Given the description of an element on the screen output the (x, y) to click on. 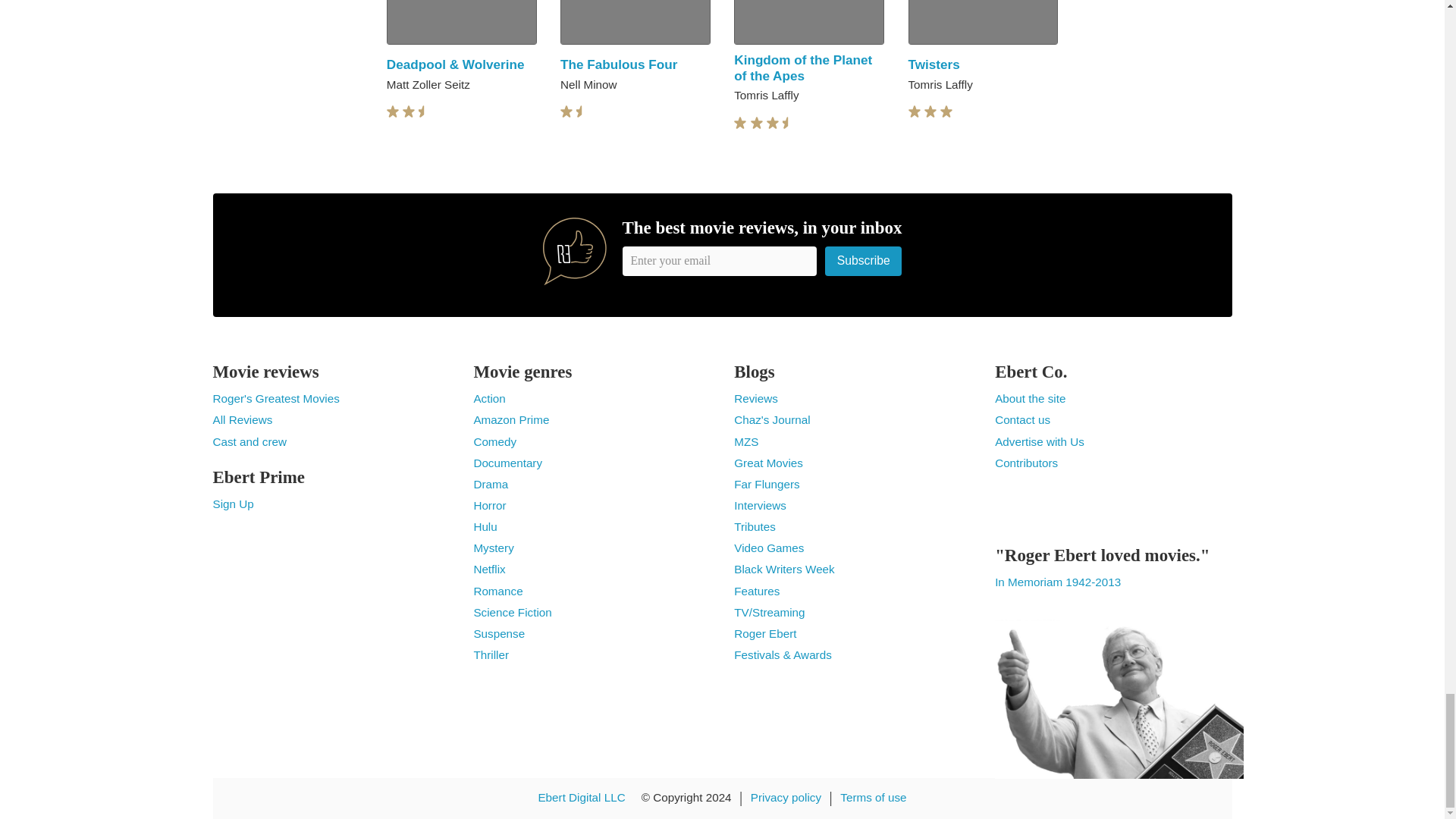
Subscribe (863, 261)
